Given the description of an element on the screen output the (x, y) to click on. 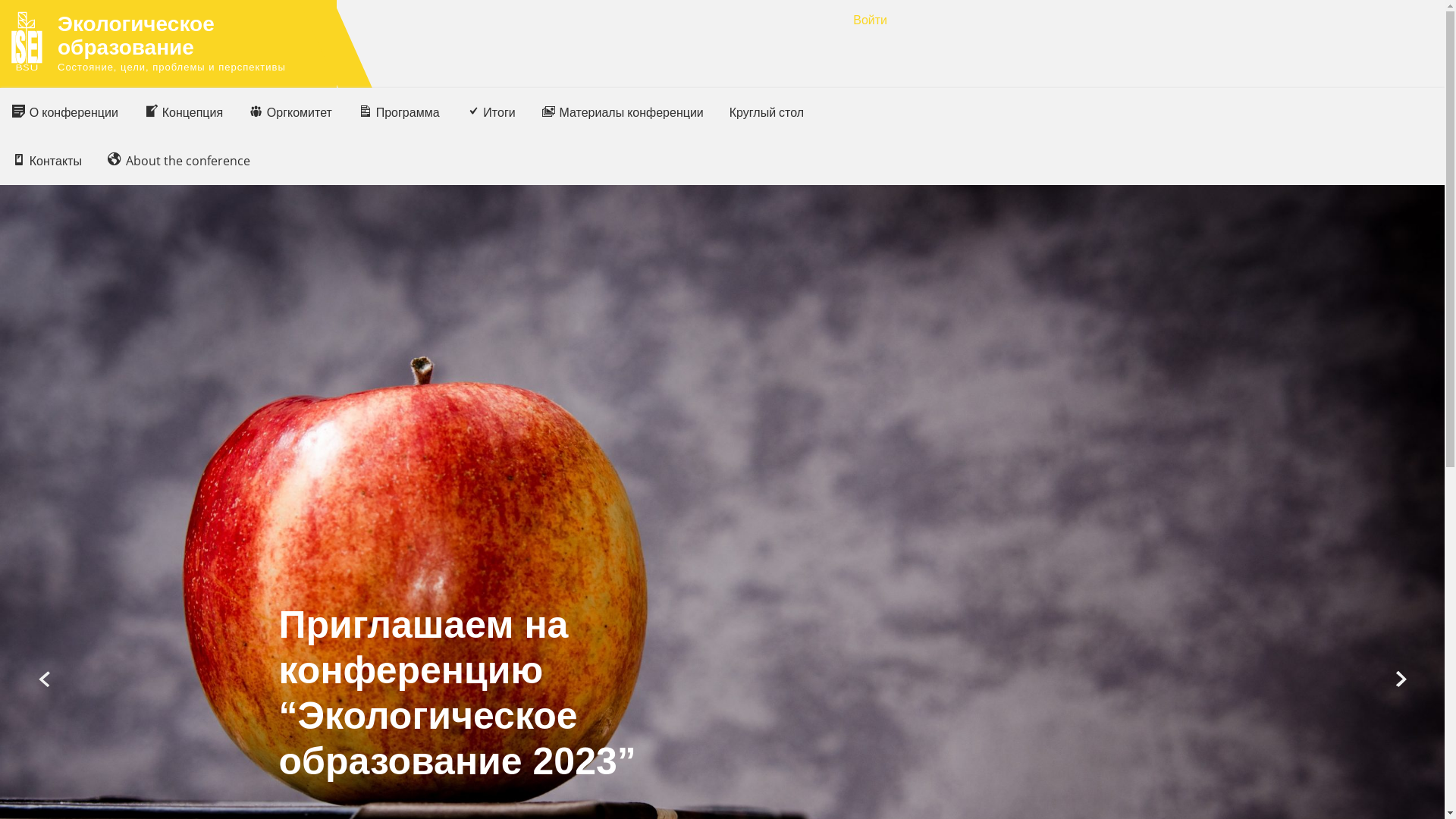
Next Element type: text (1399, 679)
Prev Element type: text (44, 679)
About the conference Element type: text (178, 160)
